Given the description of an element on the screen output the (x, y) to click on. 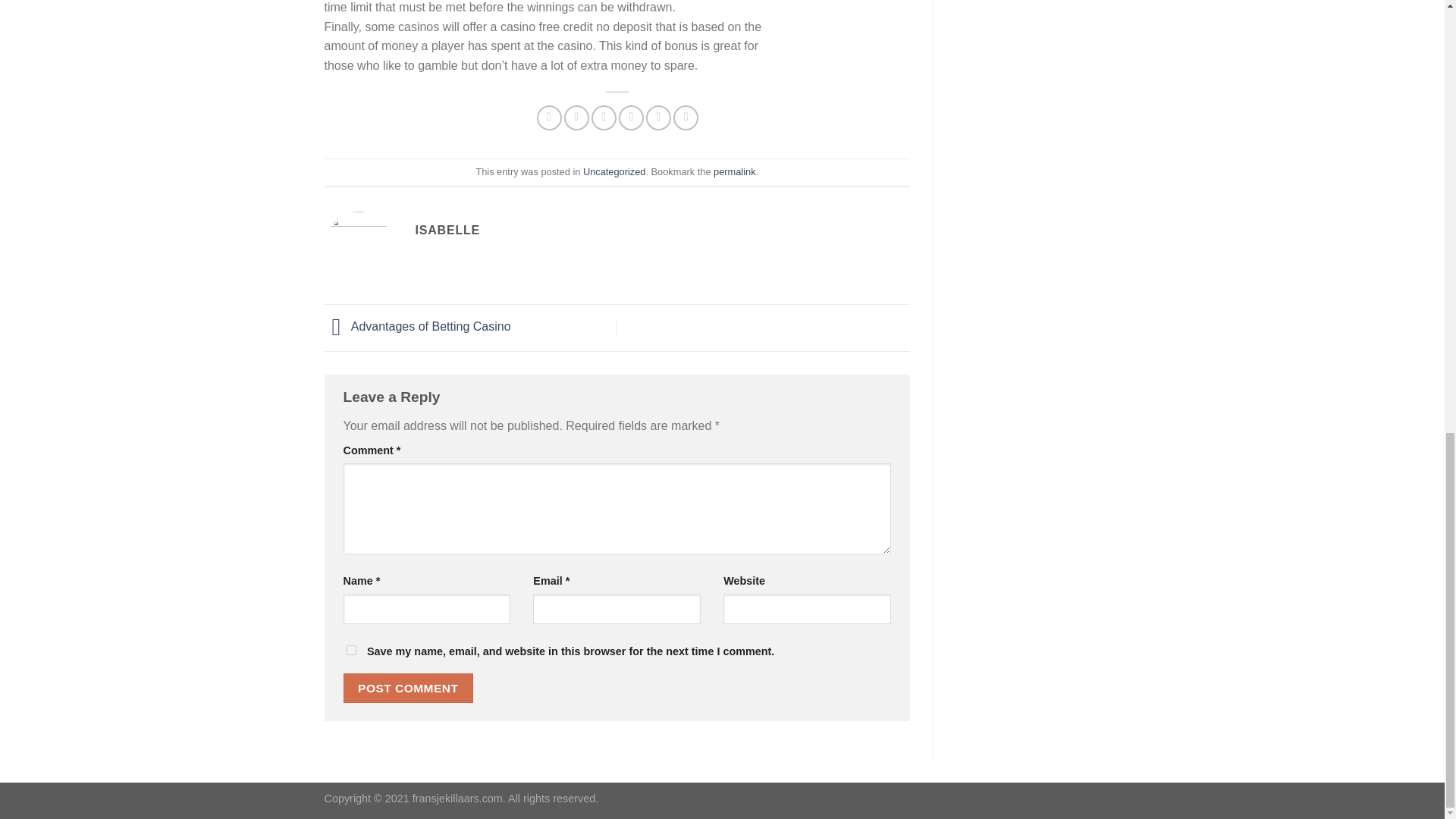
Post Comment (407, 687)
Post Comment (407, 687)
Permalink to Wallet Casino Free Credit No Deposit (734, 171)
Uncategorized (614, 171)
permalink (734, 171)
Advantages of Betting Casino (417, 326)
yes (350, 650)
